Given the description of an element on the screen output the (x, y) to click on. 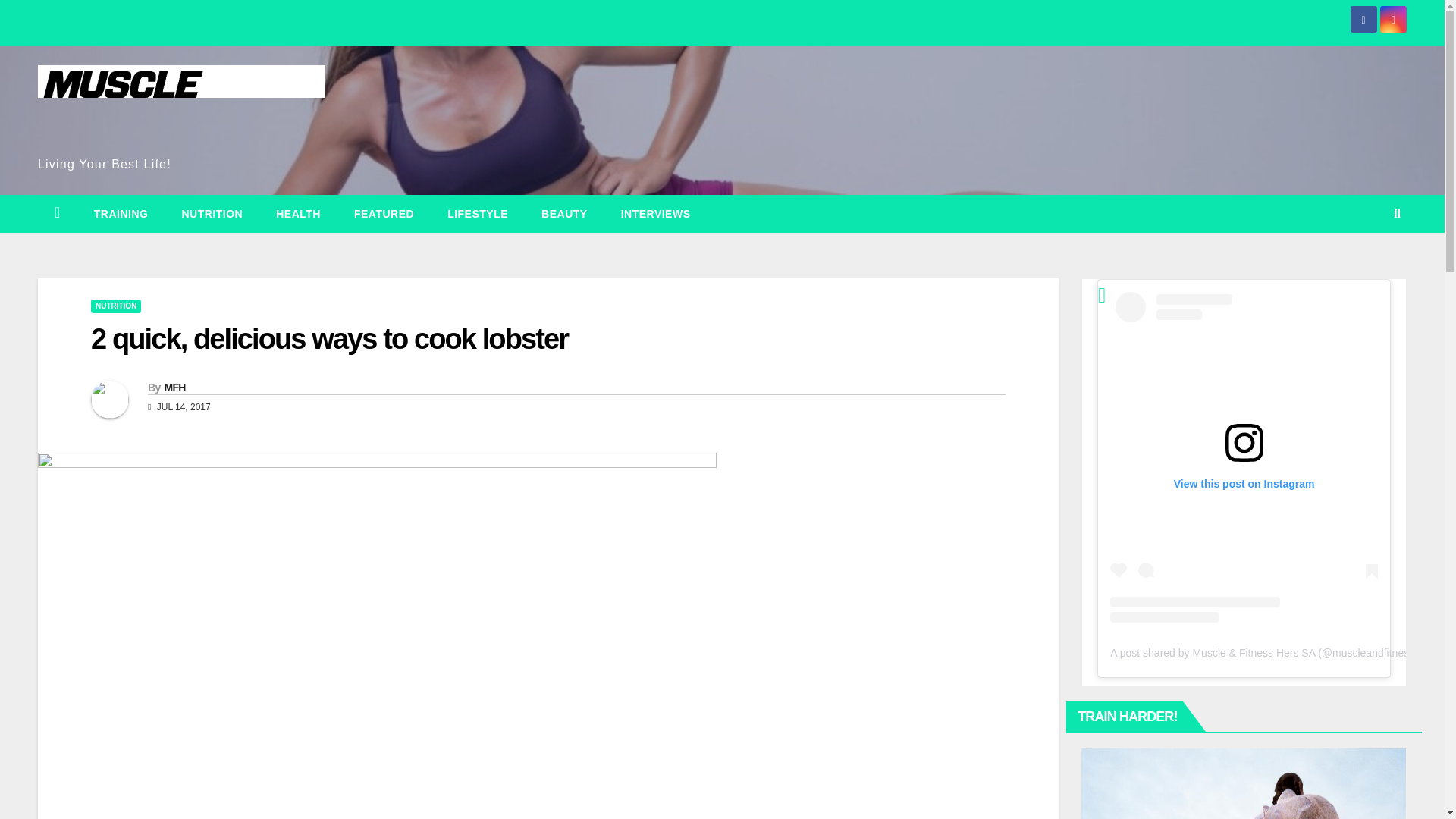
2 quick, delicious ways to cook lobster (328, 338)
MFH (173, 387)
Permalink to: 2 quick, delicious ways to cook lobster (328, 338)
FEATURED (383, 213)
LIfestyle (477, 213)
TRAINING (121, 213)
BEAUTY (564, 213)
NUTRITION (211, 213)
Training (121, 213)
Interviews (655, 213)
HEALTH (298, 213)
LIFESTYLE (477, 213)
Health (298, 213)
Beauty (564, 213)
Nutrition (211, 213)
